Given the description of an element on the screen output the (x, y) to click on. 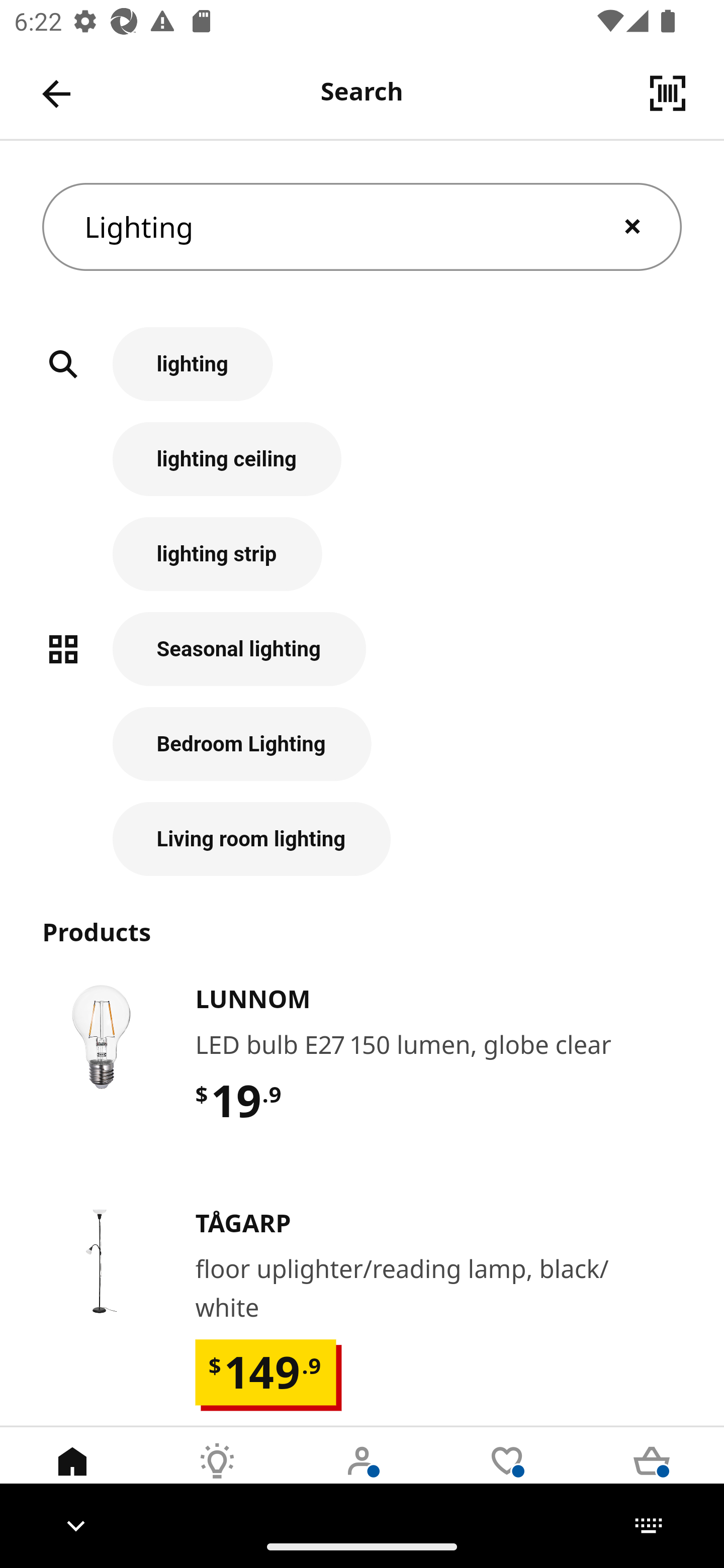
Lighting (361, 227)
lighting (361, 374)
lighting ceiling (361, 469)
lighting strip (361, 564)
Seasonal lighting (361, 659)
Bedroom Lighting (361, 754)
Living room lighting (361, 839)
Home
Tab 1 of 5 (72, 1476)
Inspirations
Tab 2 of 5 (216, 1476)
User
Tab 3 of 5 (361, 1476)
Wishlist
Tab 4 of 5 (506, 1476)
Cart
Tab 5 of 5 (651, 1476)
